Given the description of an element on the screen output the (x, y) to click on. 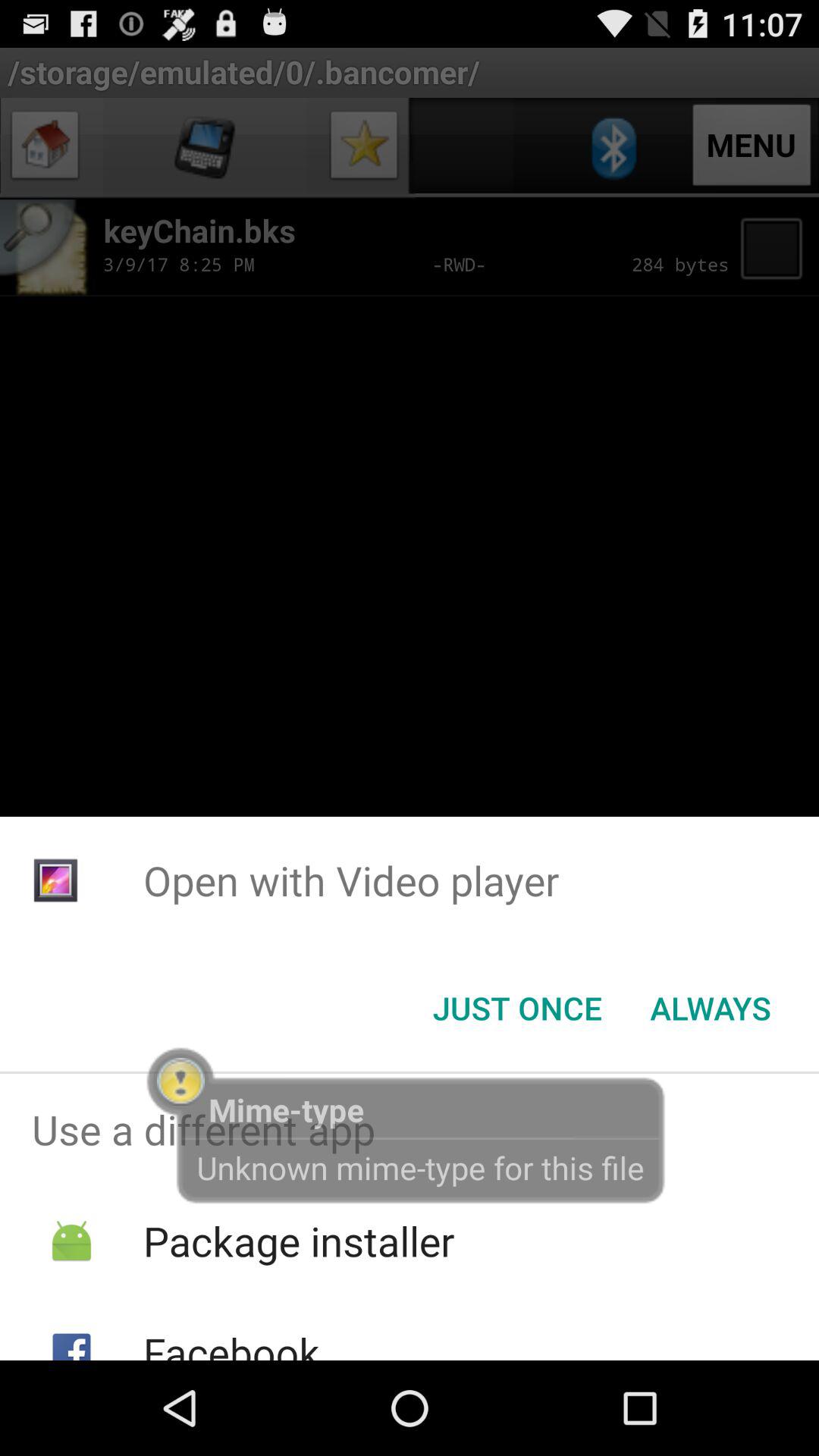
open item below use a different icon (298, 1240)
